Given the description of an element on the screen output the (x, y) to click on. 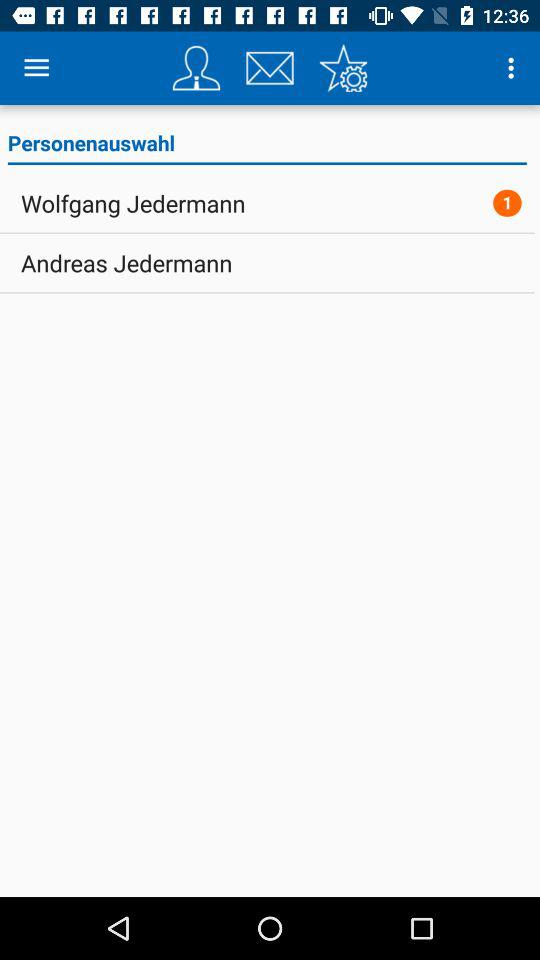
send email (269, 67)
